Given the description of an element on the screen output the (x, y) to click on. 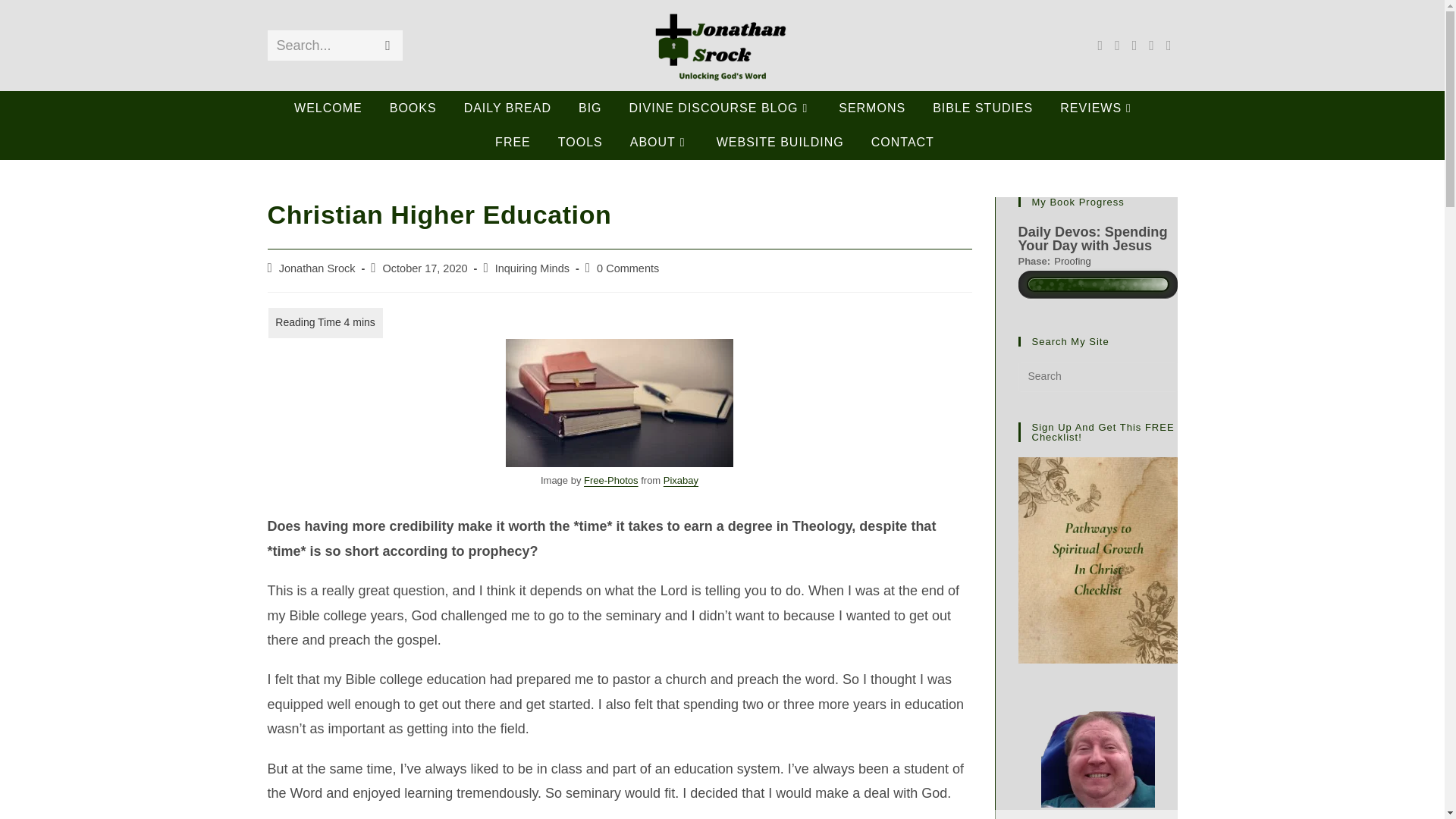
BIG (597, 107)
TOOLS (587, 141)
Sign up and get this FREE Checklist! (1096, 560)
BIBLE STUDIES (990, 107)
WELCOME (336, 107)
DIVINE DISCOURSE BLOG (727, 107)
Posts by Jonathan Srock (317, 268)
DAILY BREAD (515, 107)
BOOKS (421, 107)
REVIEWS (1105, 107)
ABOUT (667, 141)
FREE (520, 141)
SERMONS (879, 107)
